Given the description of an element on the screen output the (x, y) to click on. 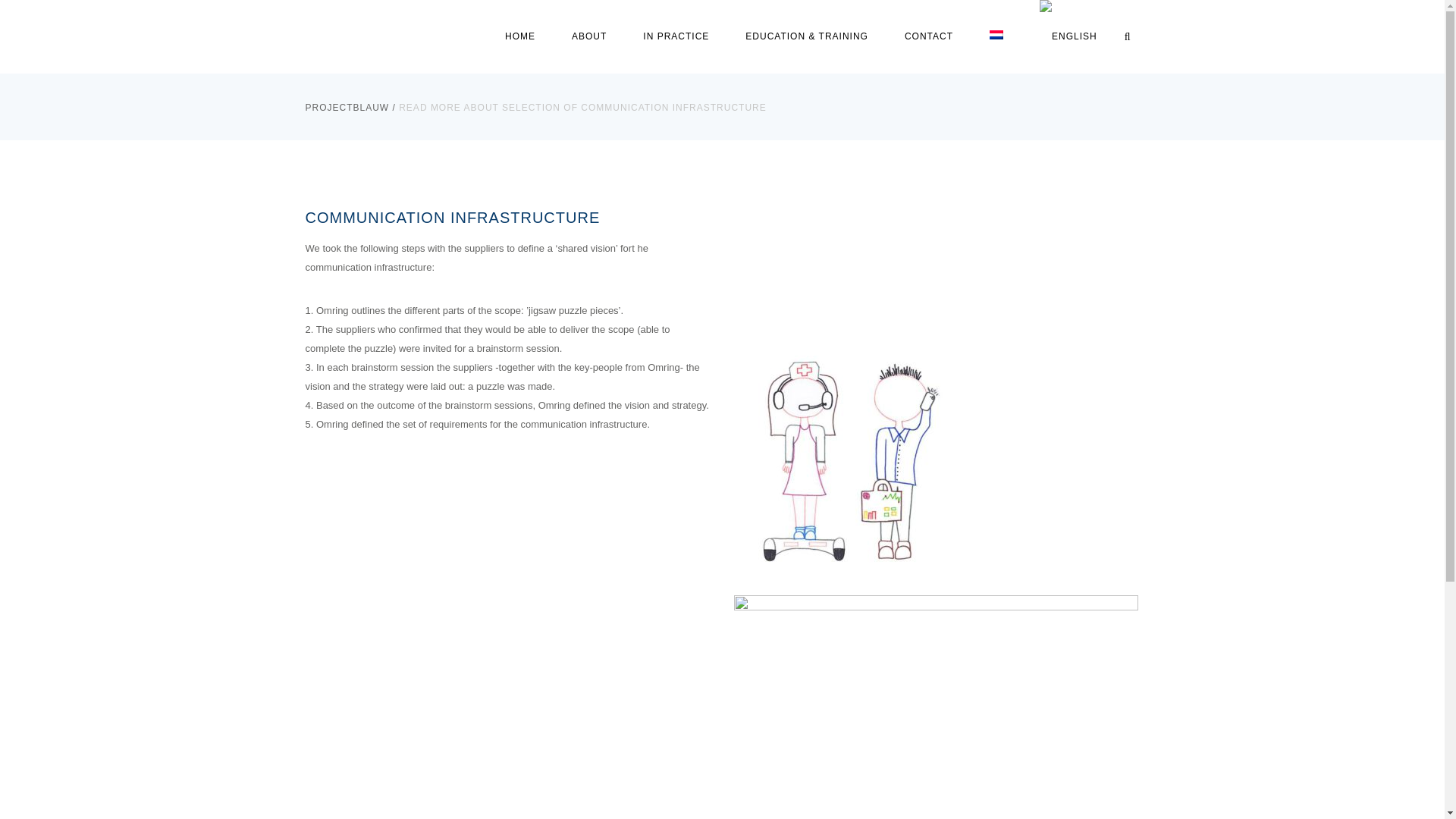
Omring-zorgmedewerker-2022-man-en-vrouw (846, 456)
HOME (519, 36)
IN PRACTICE (675, 36)
ABOUT (588, 36)
detail-infrastructuur-web (935, 707)
CONTACT (928, 36)
